Given the description of an element on the screen output the (x, y) to click on. 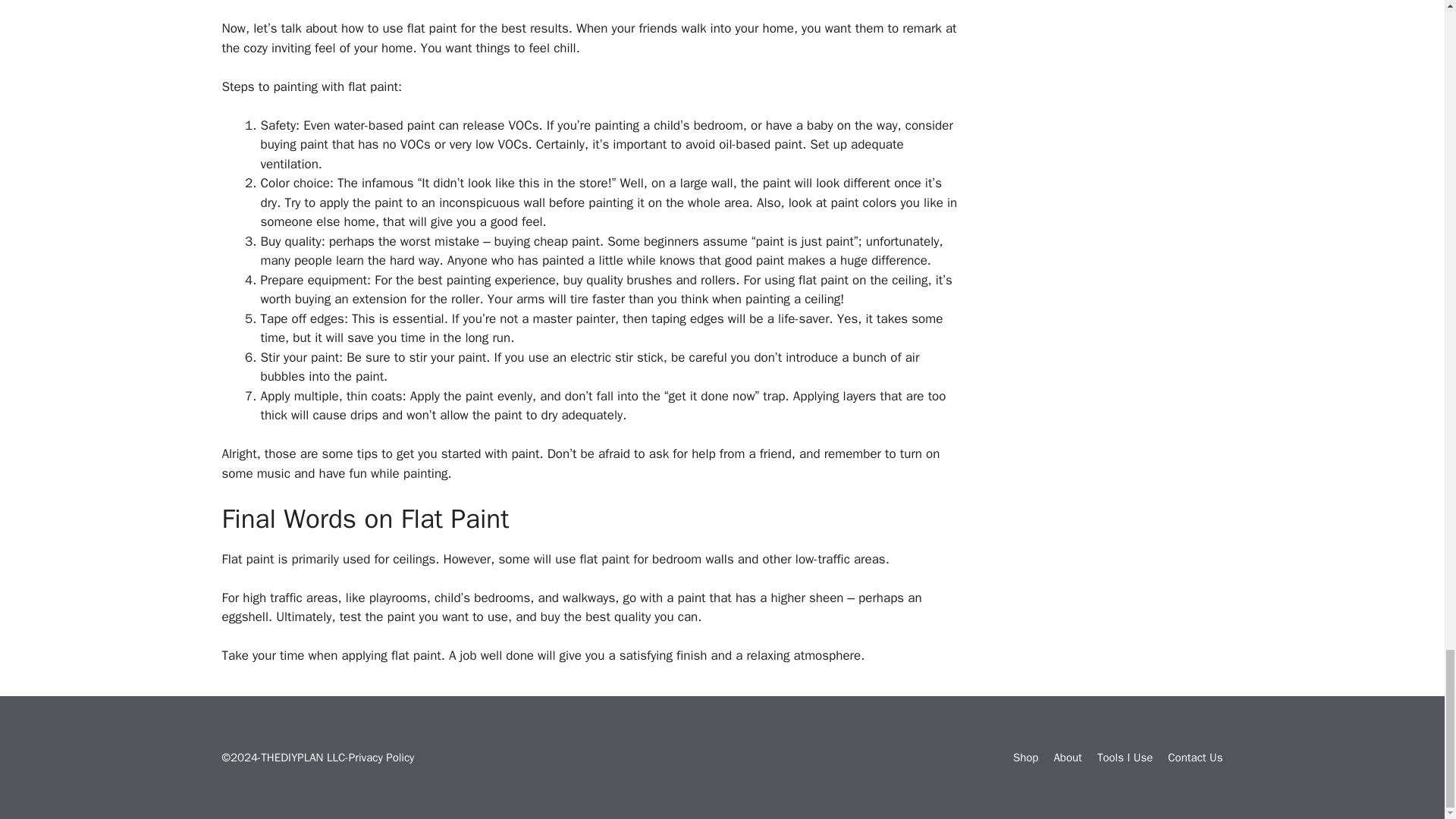
Shop (1026, 757)
